Given the description of an element on the screen output the (x, y) to click on. 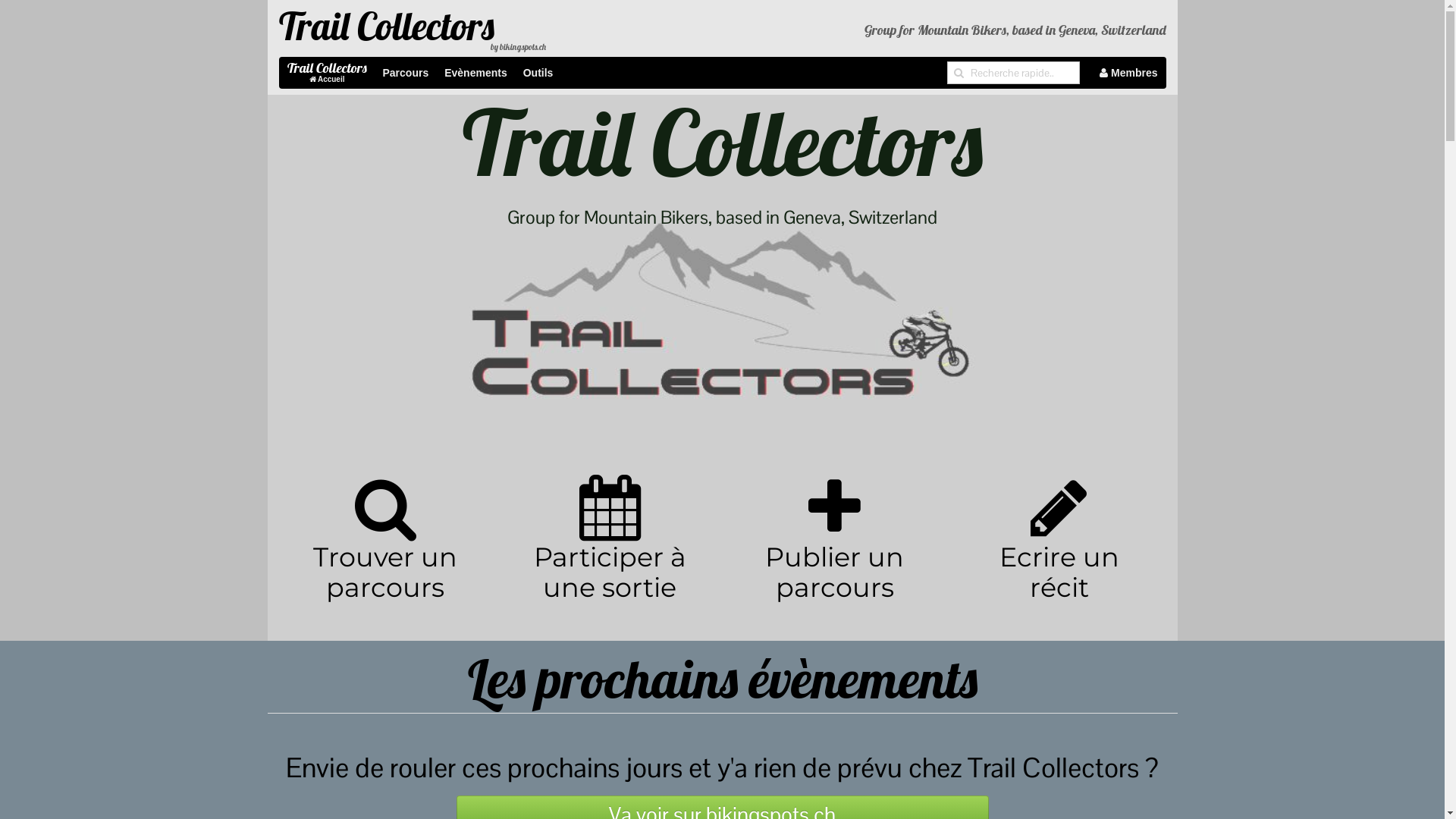
Outils Element type: text (537, 71)
Parcours Element type: text (405, 71)
Trail Collectors
Accueil Element type: text (327, 71)
Publier un parcours Element type: text (834, 547)
Membres Element type: text (1128, 71)
Trouver un parcours Element type: text (385, 547)
